Given the description of an element on the screen output the (x, y) to click on. 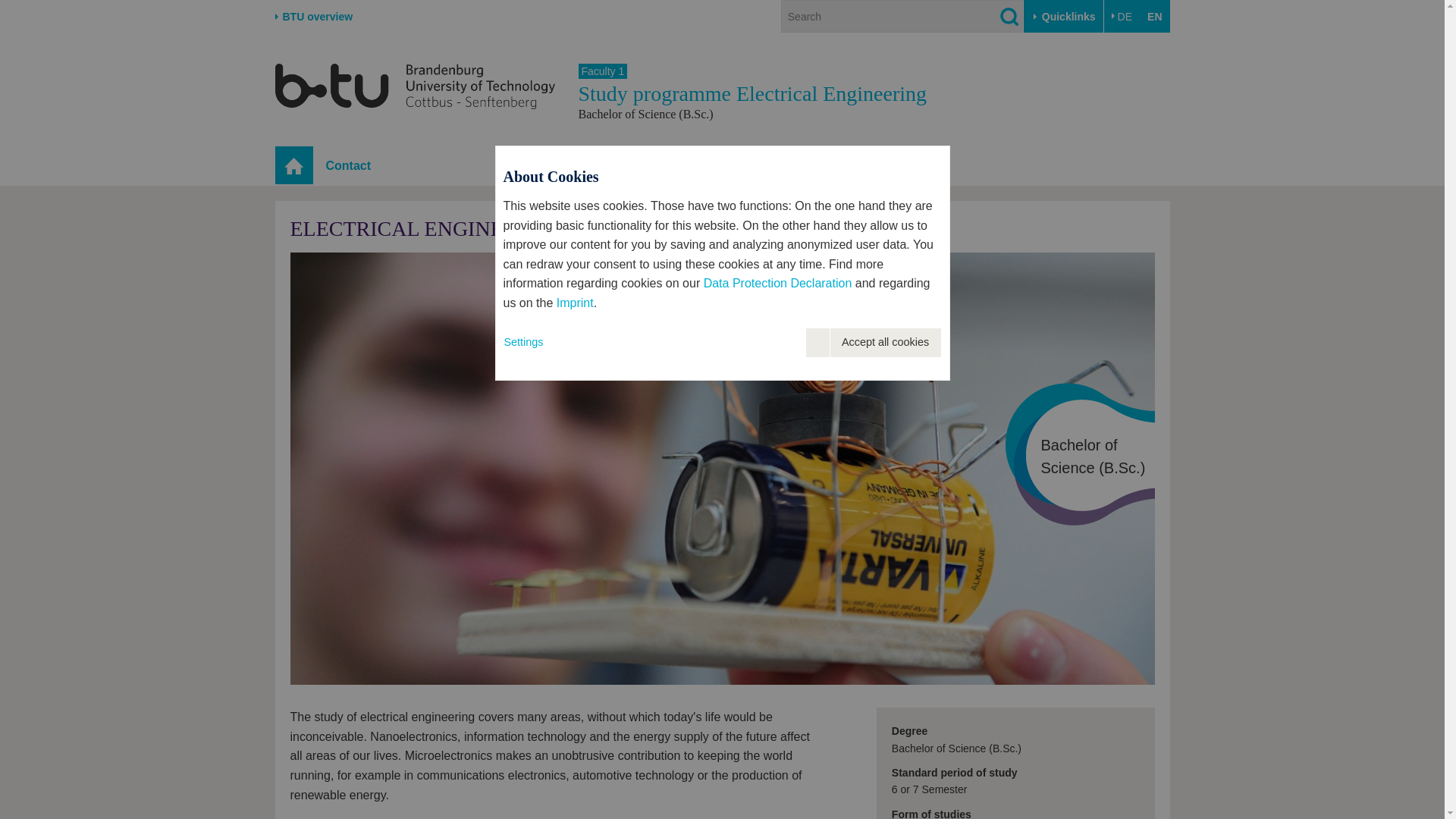
BTU overview (313, 16)
DE (1121, 16)
Quicklinks (1063, 16)
